Given the description of an element on the screen output the (x, y) to click on. 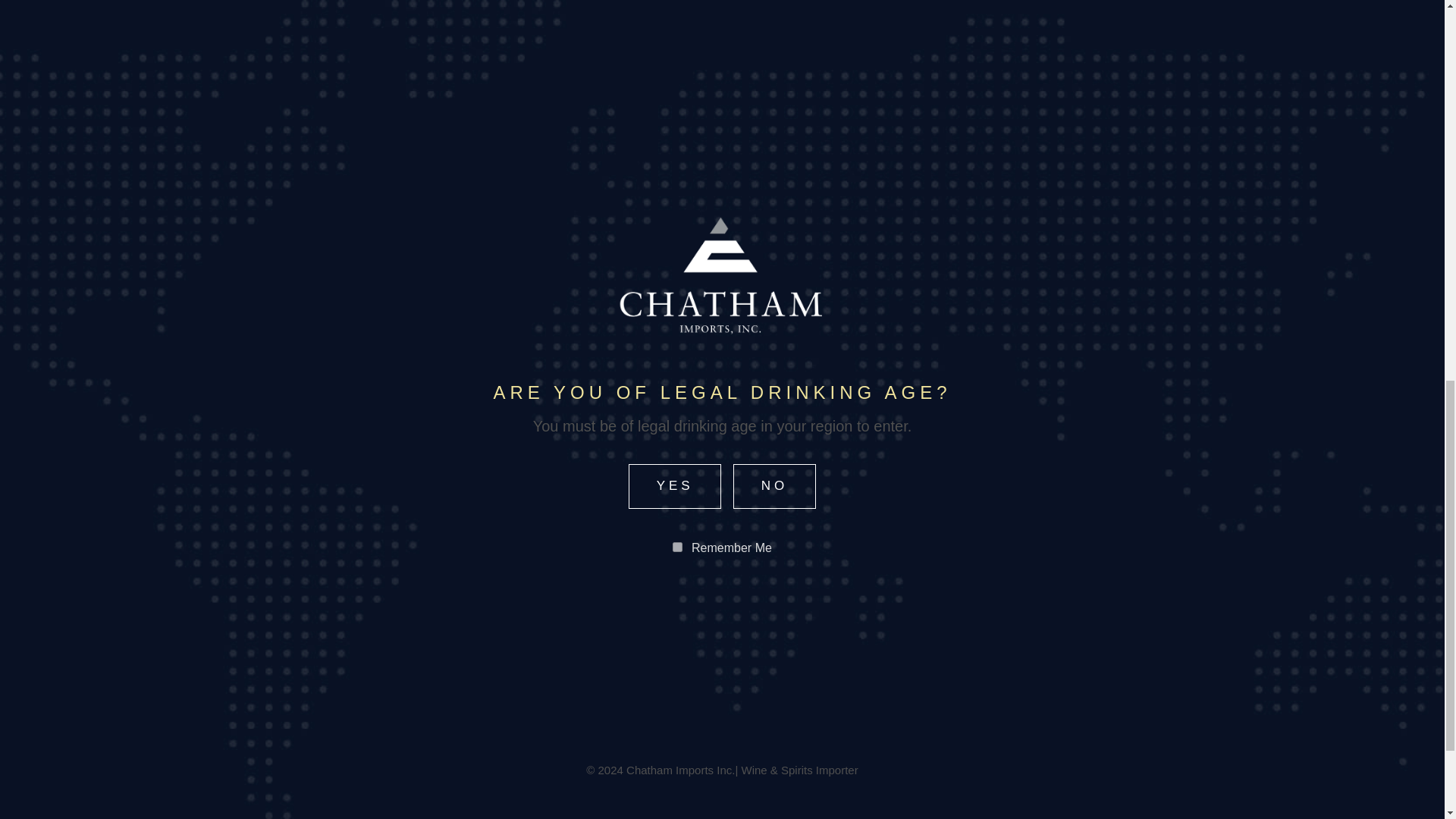
About (772, 779)
Contact (911, 779)
SEE ALL BRANDS (722, 369)
Brands (837, 779)
